Given the description of an element on the screen output the (x, y) to click on. 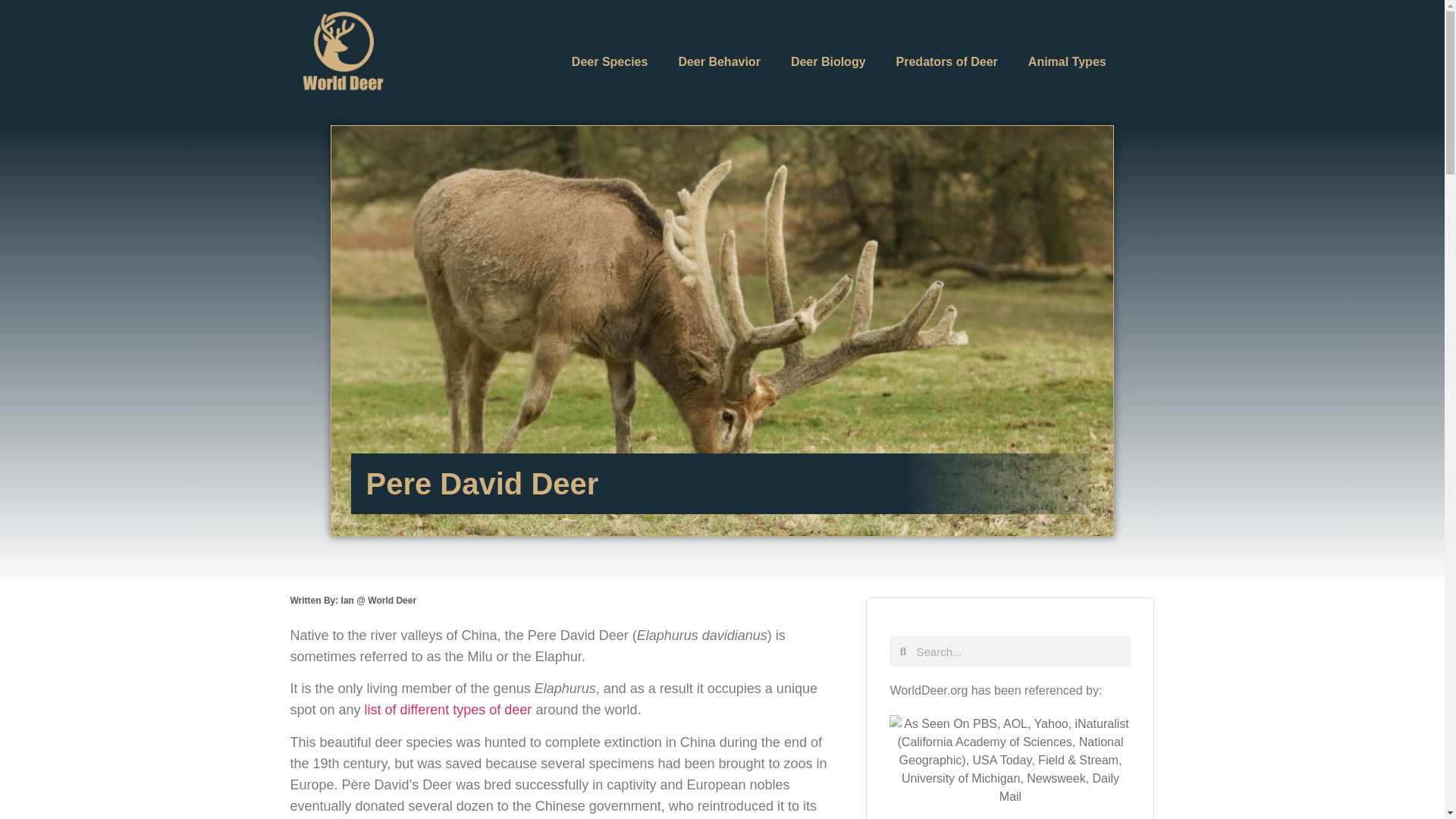
Animal Types (1067, 62)
Deer Behavior (719, 62)
Deer Biology (828, 62)
Deer Species (609, 62)
Predators of Deer (946, 62)
